Given the description of an element on the screen output the (x, y) to click on. 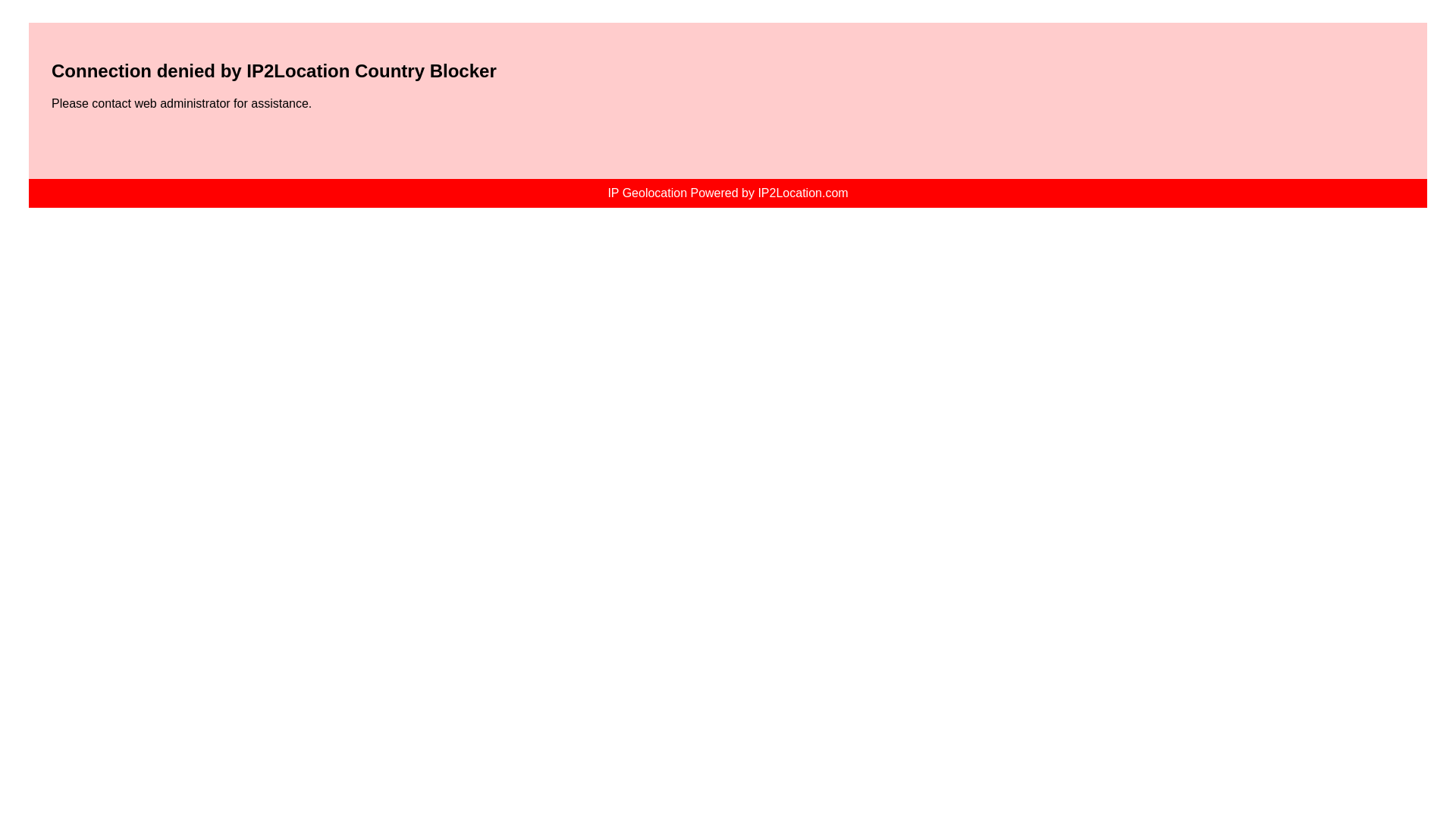
IP Geolocation Powered by IP2Location.com (727, 192)
